Given the description of an element on the screen output the (x, y) to click on. 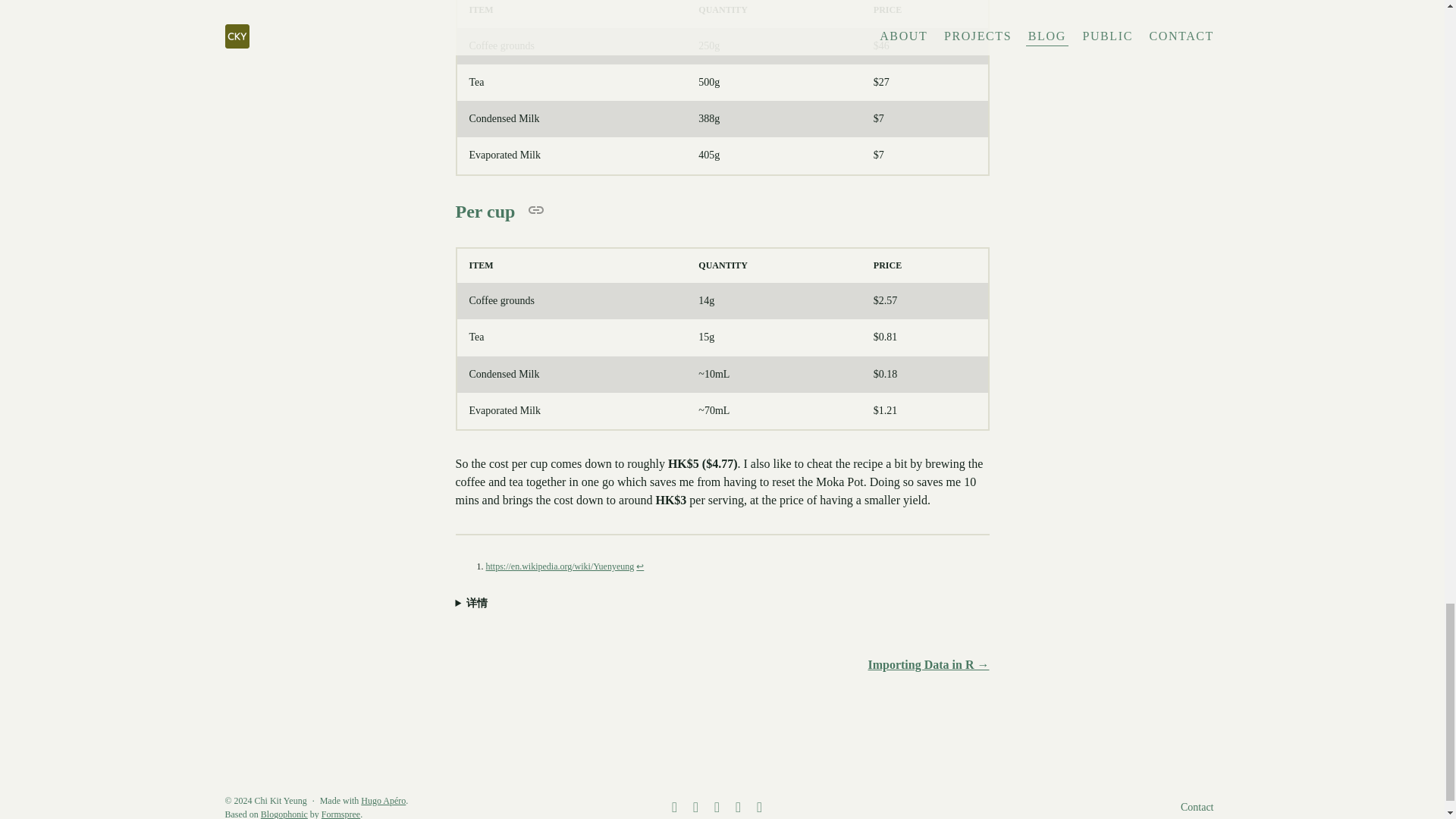
Blogophonic (283, 814)
Contact (1197, 807)
instagram (735, 808)
youtube (756, 808)
github (671, 808)
Contact form (1197, 807)
Formspree (340, 814)
linkedin (713, 808)
kaggle (692, 808)
